Given the description of an element on the screen output the (x, y) to click on. 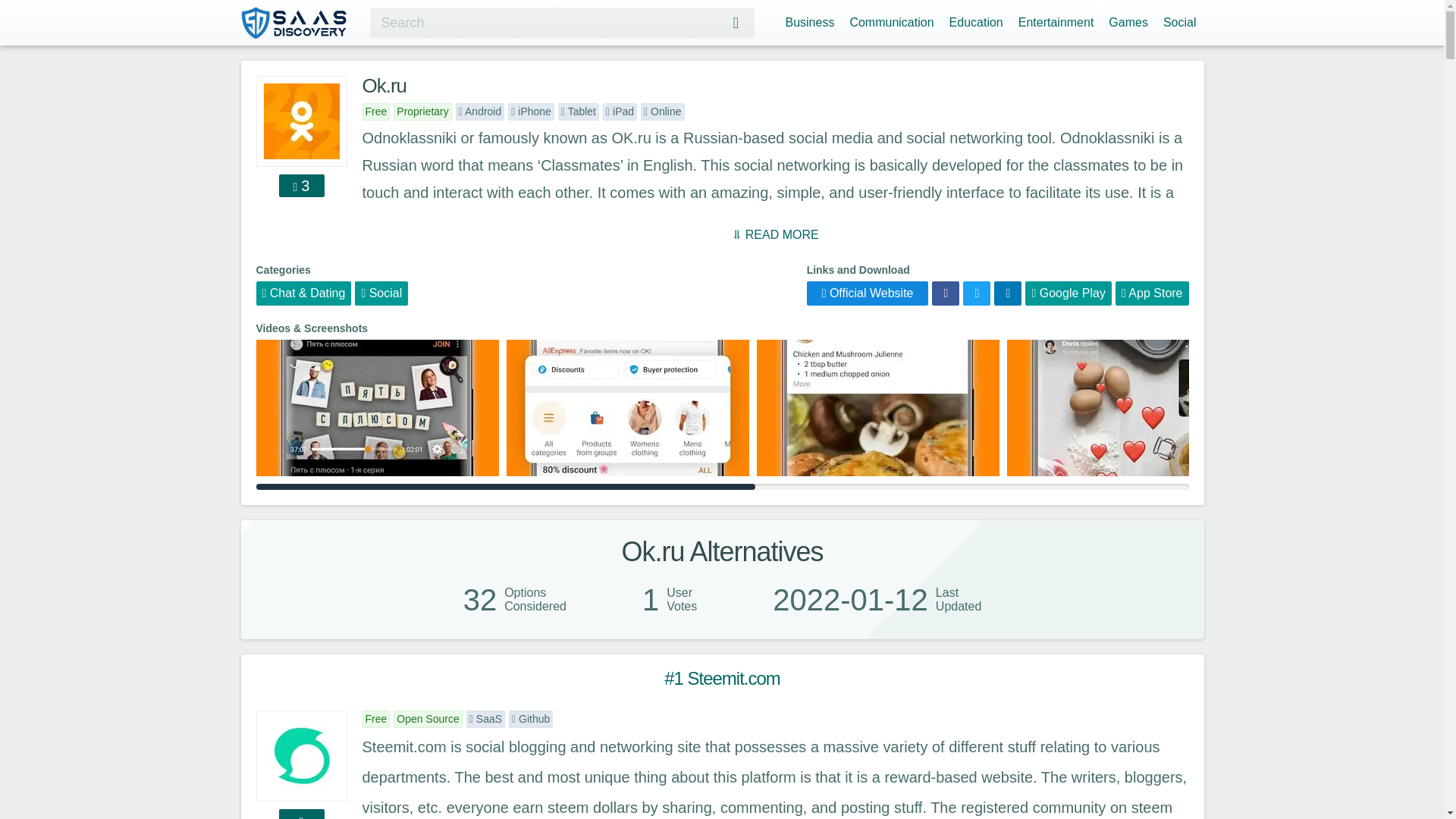
Social (1180, 21)
Education (976, 21)
Linkedin (1008, 293)
Communication (890, 21)
Entertainment (1056, 21)
Twitter (976, 293)
App Store (1152, 293)
Facebook (945, 293)
Social (381, 293)
App Store (1152, 293)
Games (1128, 21)
Google Play (1067, 293)
Business (809, 21)
Official Website (867, 293)
Google Play (1067, 293)
